Given the description of an element on the screen output the (x, y) to click on. 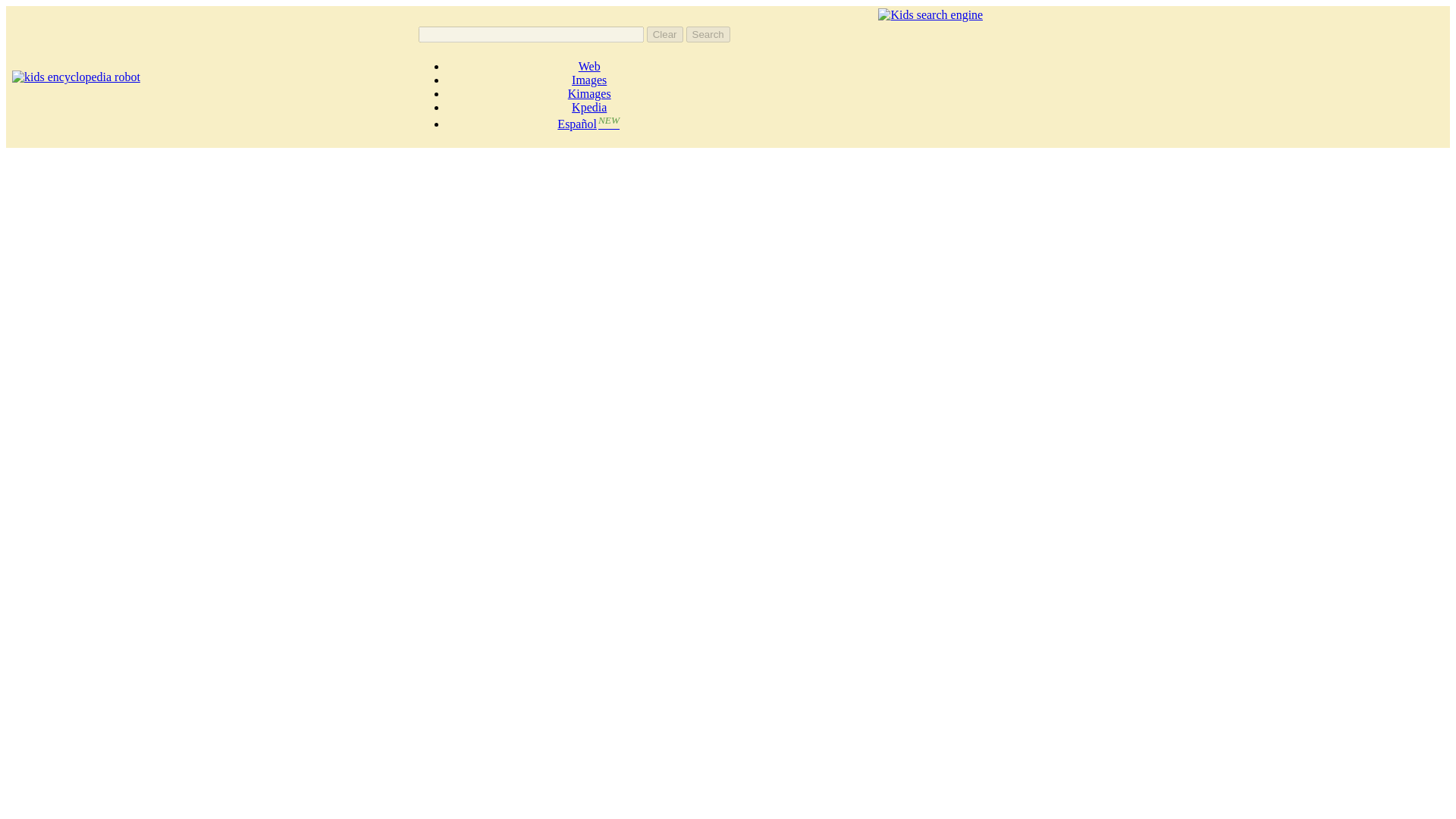
Kimages (589, 92)
Web (588, 65)
Clear (664, 34)
Kpedia (589, 106)
Search (707, 34)
Images (589, 79)
